Given the description of an element on the screen output the (x, y) to click on. 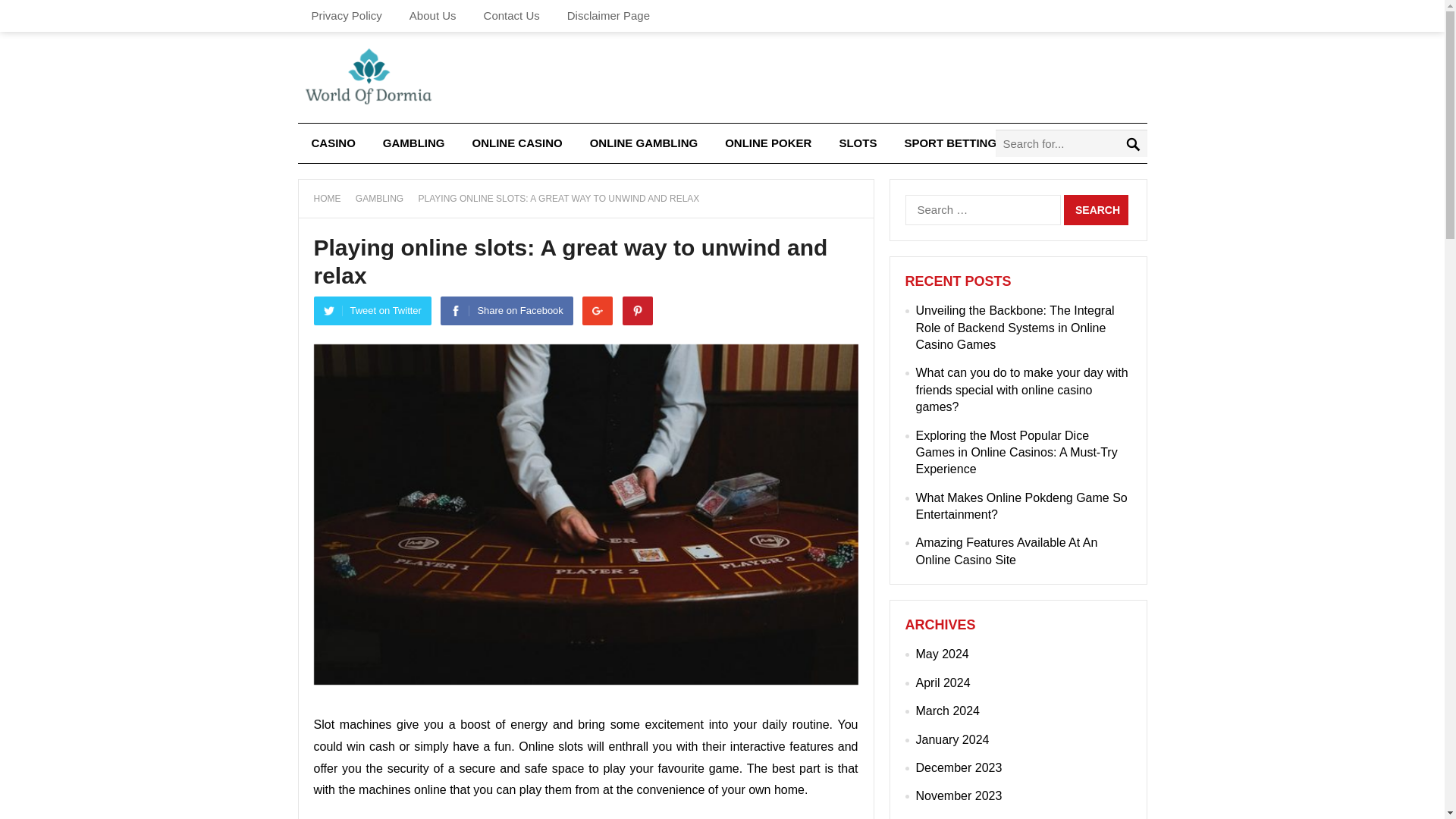
Share on Facebook (506, 310)
Tweet on Twitter (372, 310)
About Us (433, 15)
SLOTS (857, 142)
GAMBLING (384, 198)
Search (1096, 209)
ONLINE CASINO (517, 142)
Search (1096, 209)
CASINO (332, 142)
ONLINE GAMBLING (643, 142)
